Given the description of an element on the screen output the (x, y) to click on. 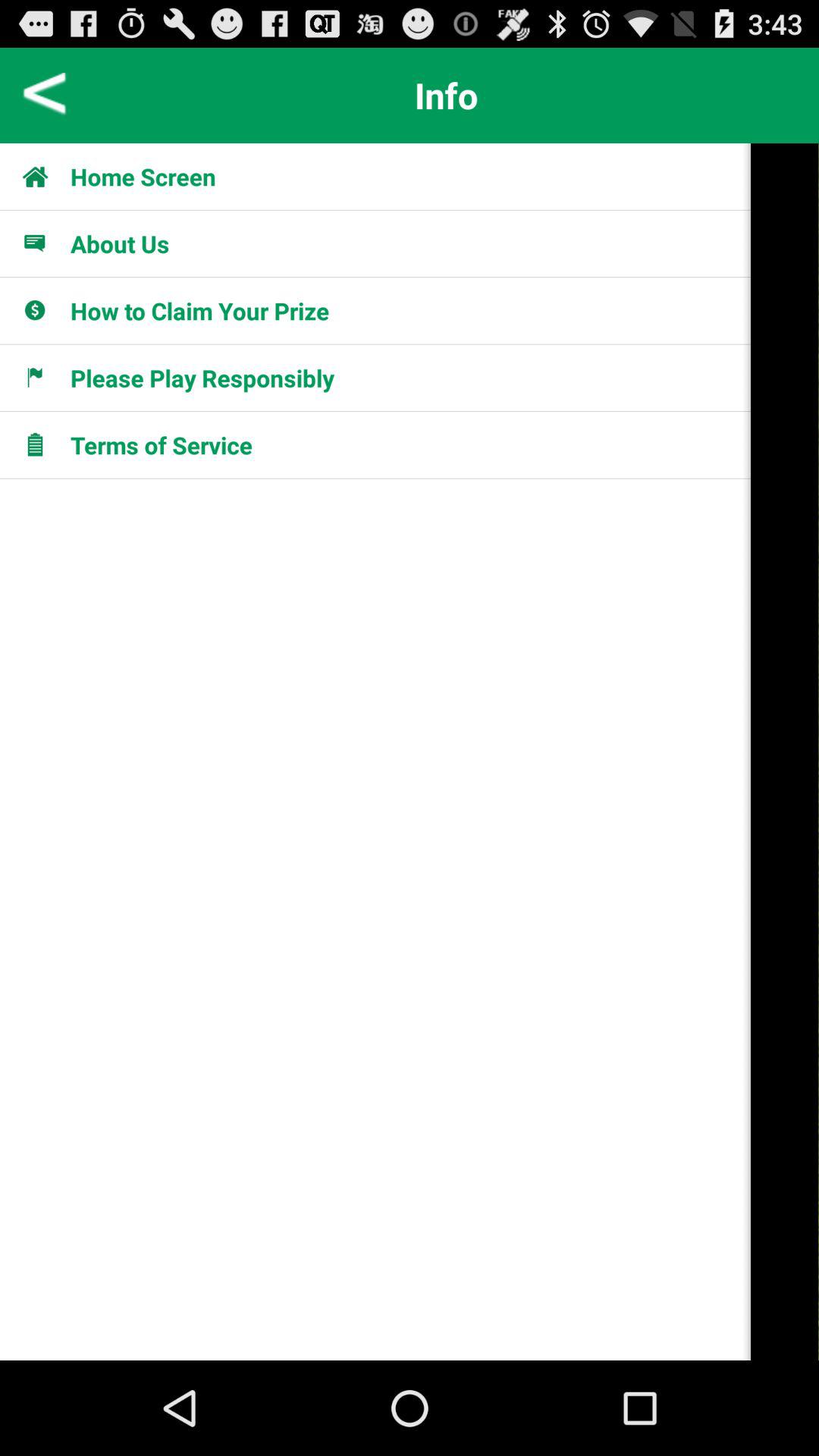
open the item above home screen icon (44, 94)
